Given the description of an element on the screen output the (x, y) to click on. 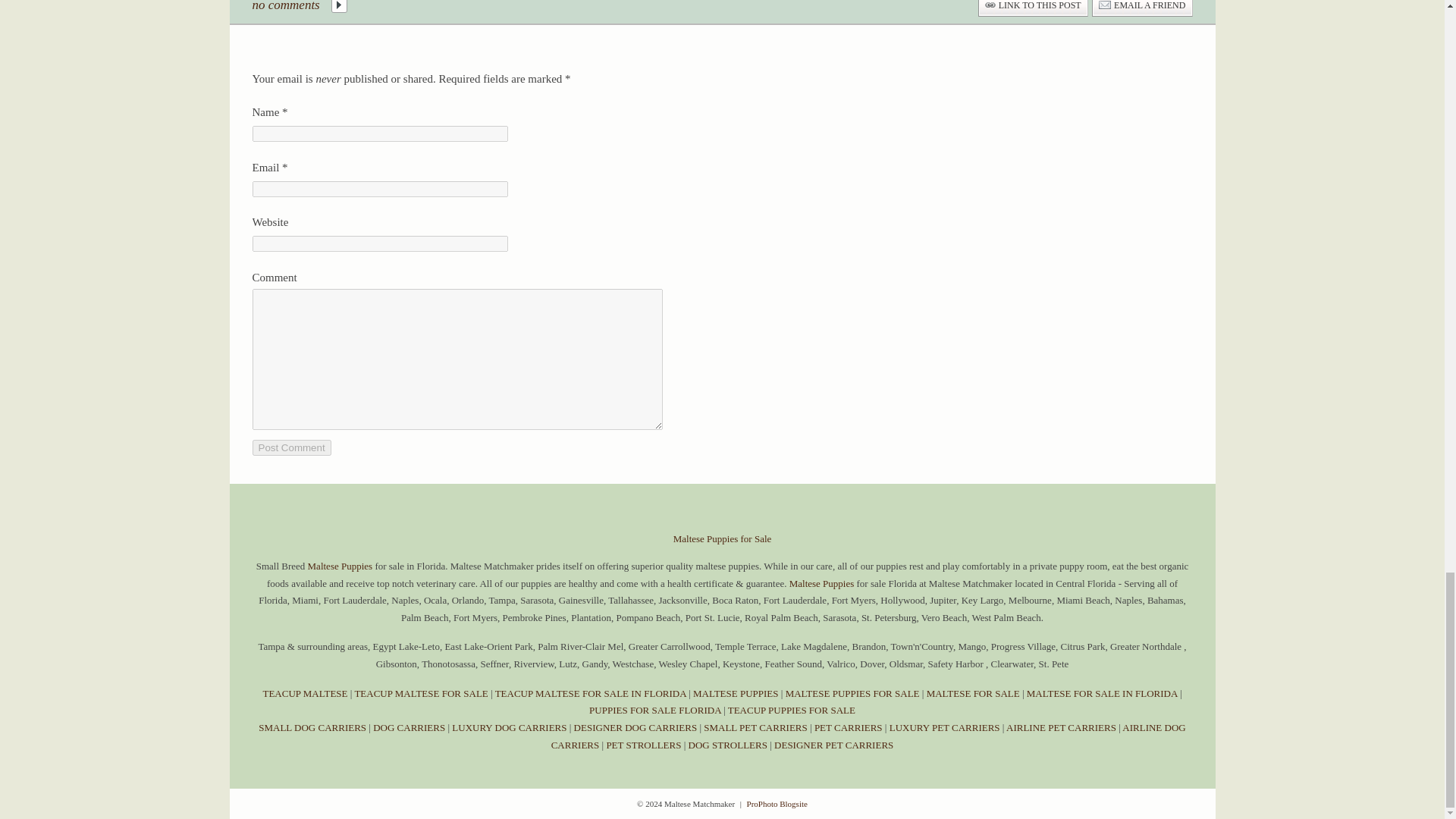
LUXURY DOG CARRIERS (508, 727)
MALTESE PUPPIES FOR SALE (853, 693)
DOG CARRIERS (408, 727)
MALTESE FOR SALE (973, 693)
ProPhoto Photographer Blogsite (777, 803)
TEACUP MALTESE FOR SALE IN FLORIDA (590, 693)
no comments (284, 7)
Post Comment (290, 447)
PUPPIES FOR SALE FLORIDA (654, 709)
TEACUP PUPPIES FOR SALE (792, 709)
